Given the description of an element on the screen output the (x, y) to click on. 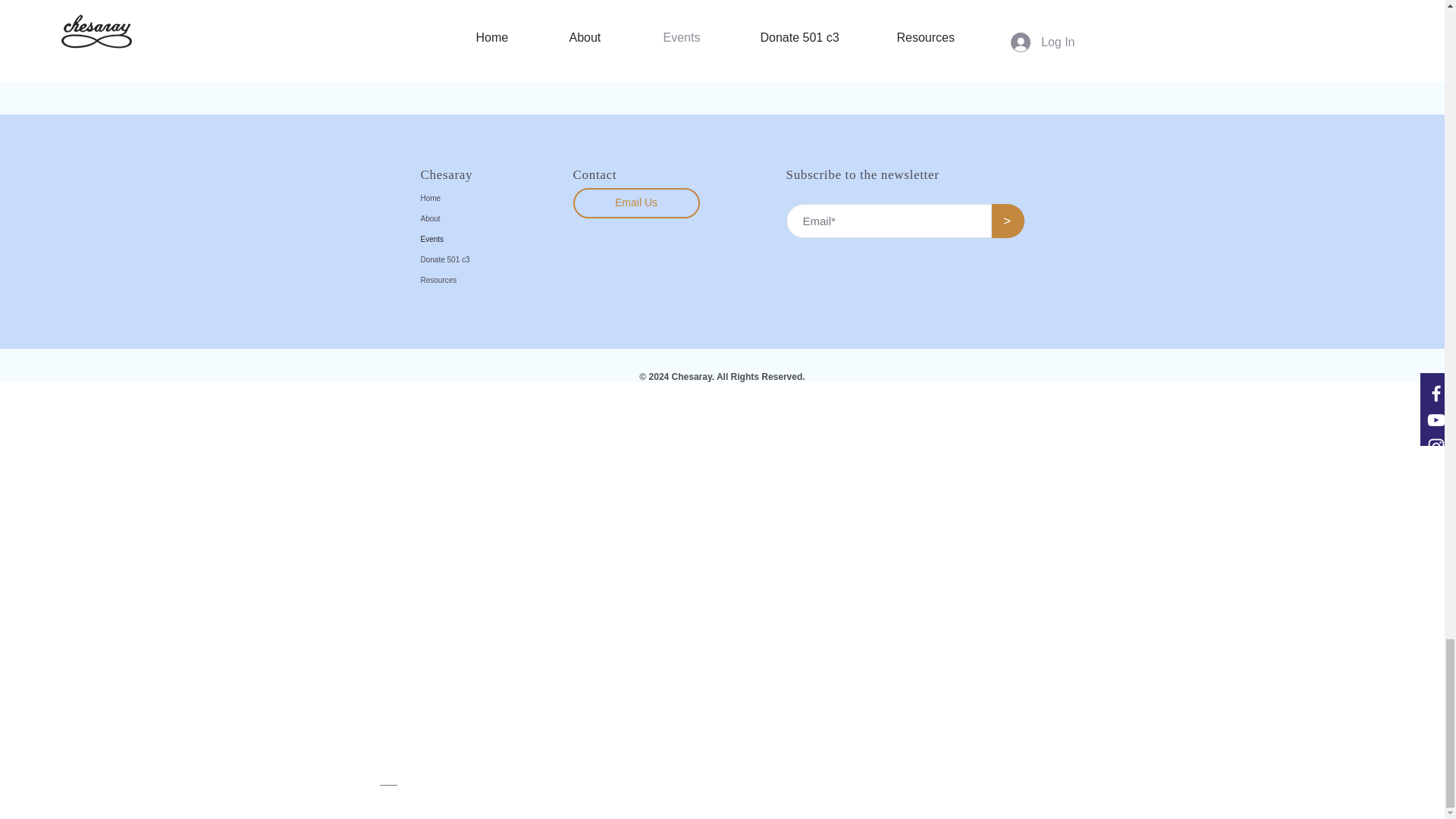
Home (476, 198)
Events (476, 239)
Donate 501 c3 (476, 259)
Email Us (636, 203)
Resources (476, 280)
About (476, 218)
